Given the description of an element on the screen output the (x, y) to click on. 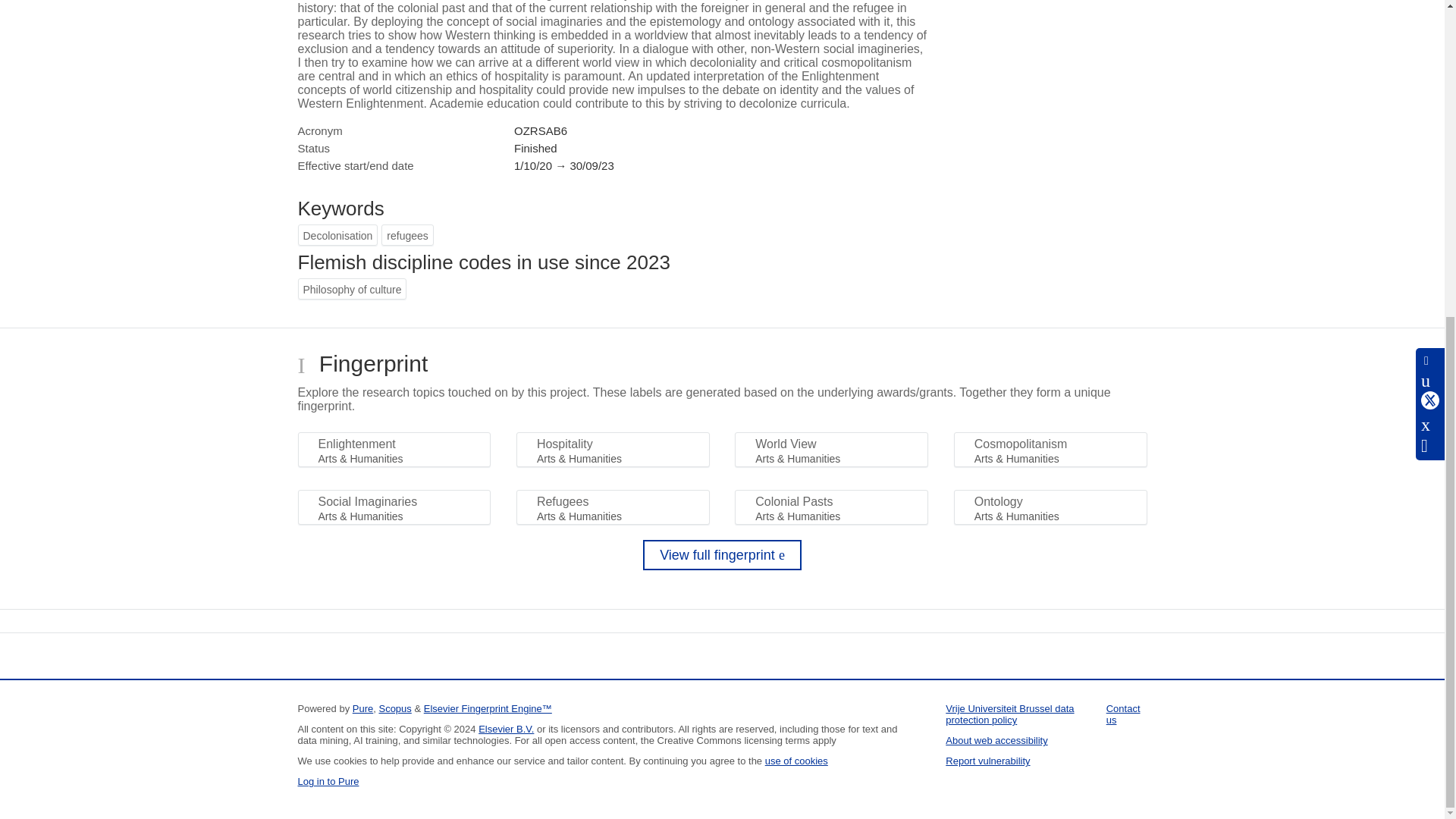
View full fingerprint (722, 554)
